Given the description of an element on the screen output the (x, y) to click on. 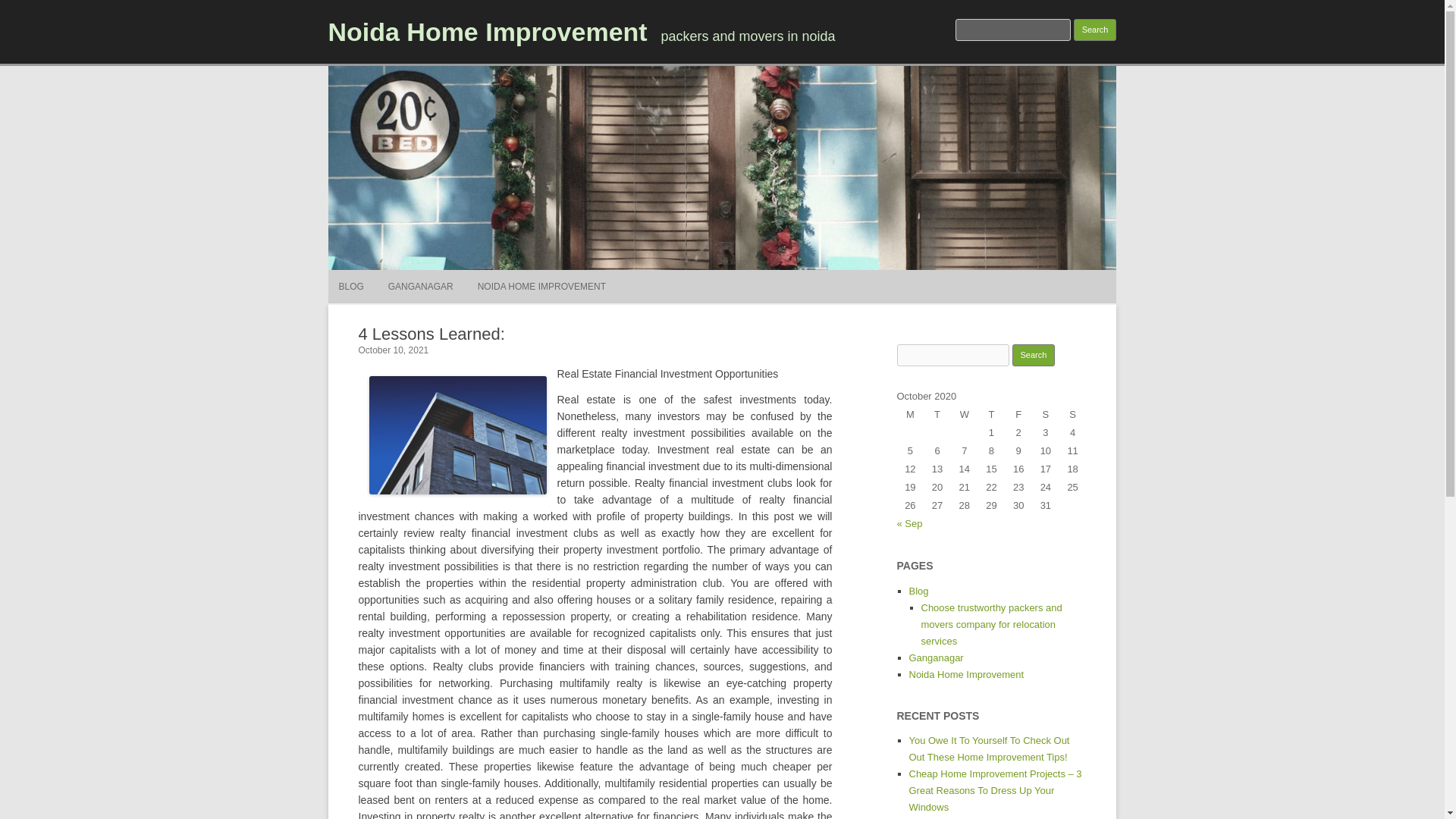
GANGANAGAR (420, 286)
Search (1033, 354)
Skip to content (757, 275)
Friday (1018, 414)
Search (1095, 29)
Noida Home Improvement (486, 31)
Wednesday (964, 414)
Thursday (992, 414)
Sunday (1072, 414)
Search (1033, 354)
